Given the description of an element on the screen output the (x, y) to click on. 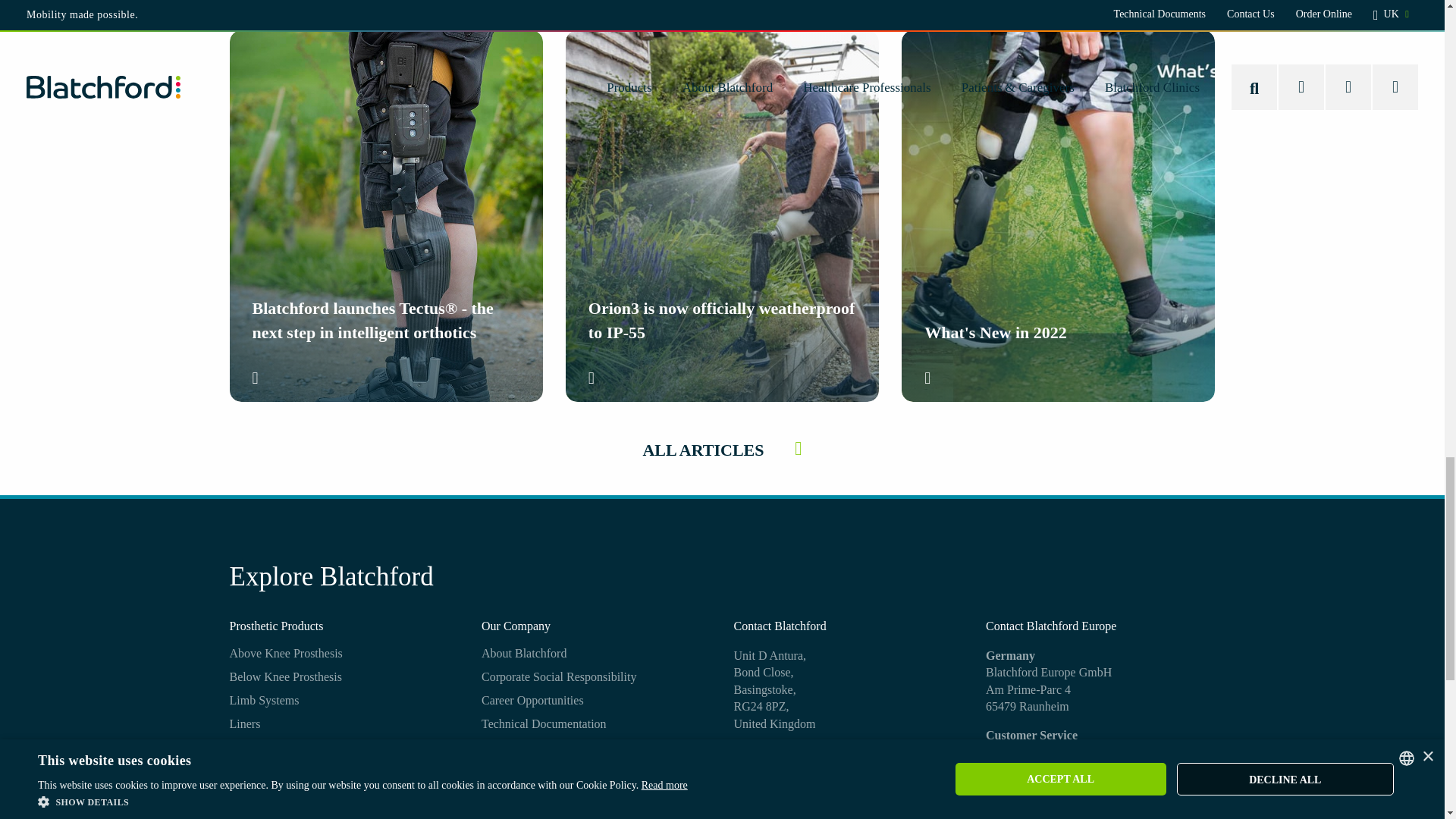
Contact Us (764, 802)
